Given the description of an element on the screen output the (x, y) to click on. 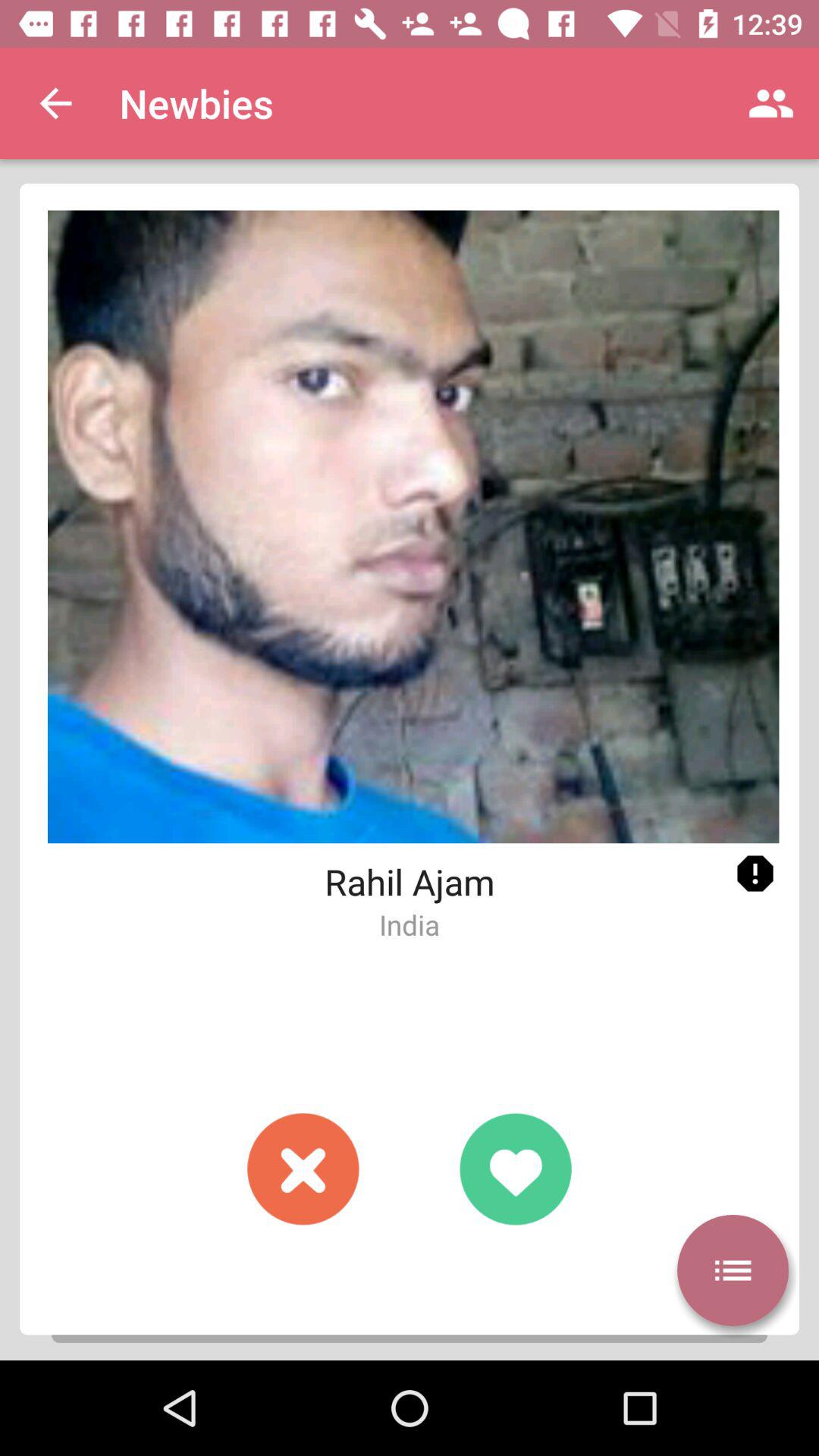
report listing (755, 873)
